Given the description of an element on the screen output the (x, y) to click on. 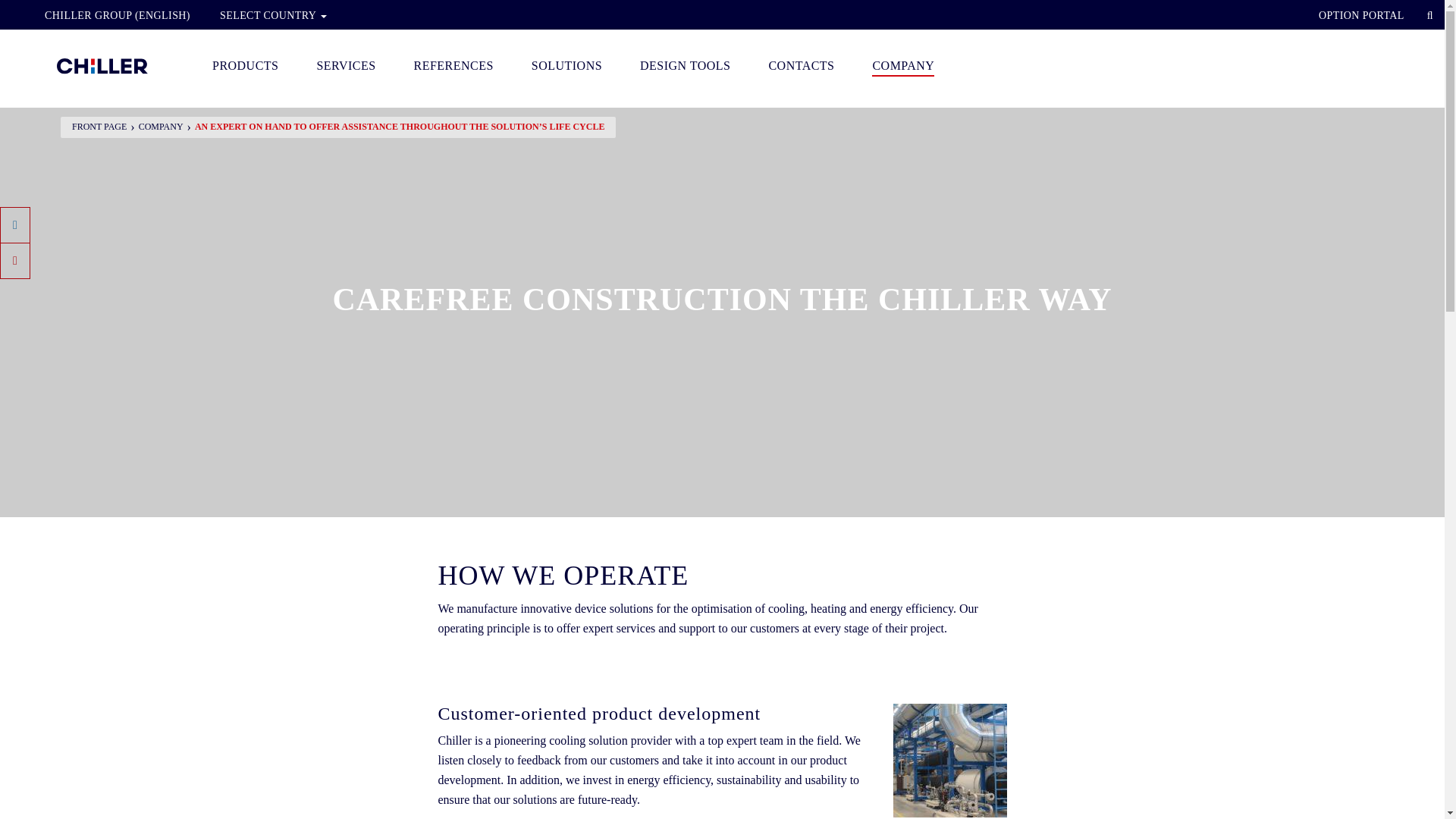
REFERENCES (453, 59)
SERVICES (345, 59)
PRODUCTS (245, 59)
SOLUTIONS (566, 59)
